Given the description of an element on the screen output the (x, y) to click on. 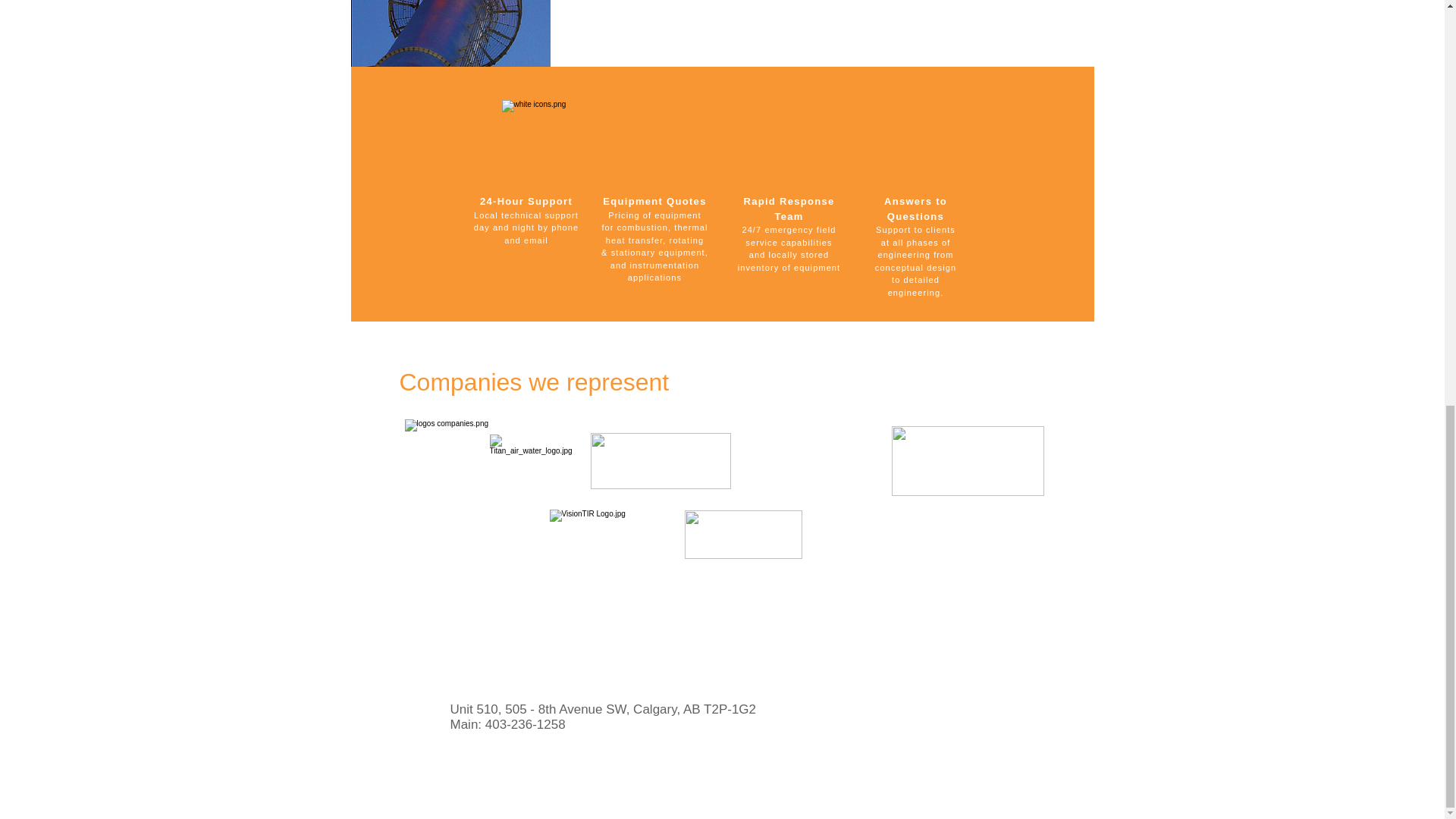
HellanStrainersCanada.jpeg (967, 460)
MarmonIndustrialWater .png (659, 460)
IDE.jpeg (743, 534)
